Given the description of an element on the screen output the (x, y) to click on. 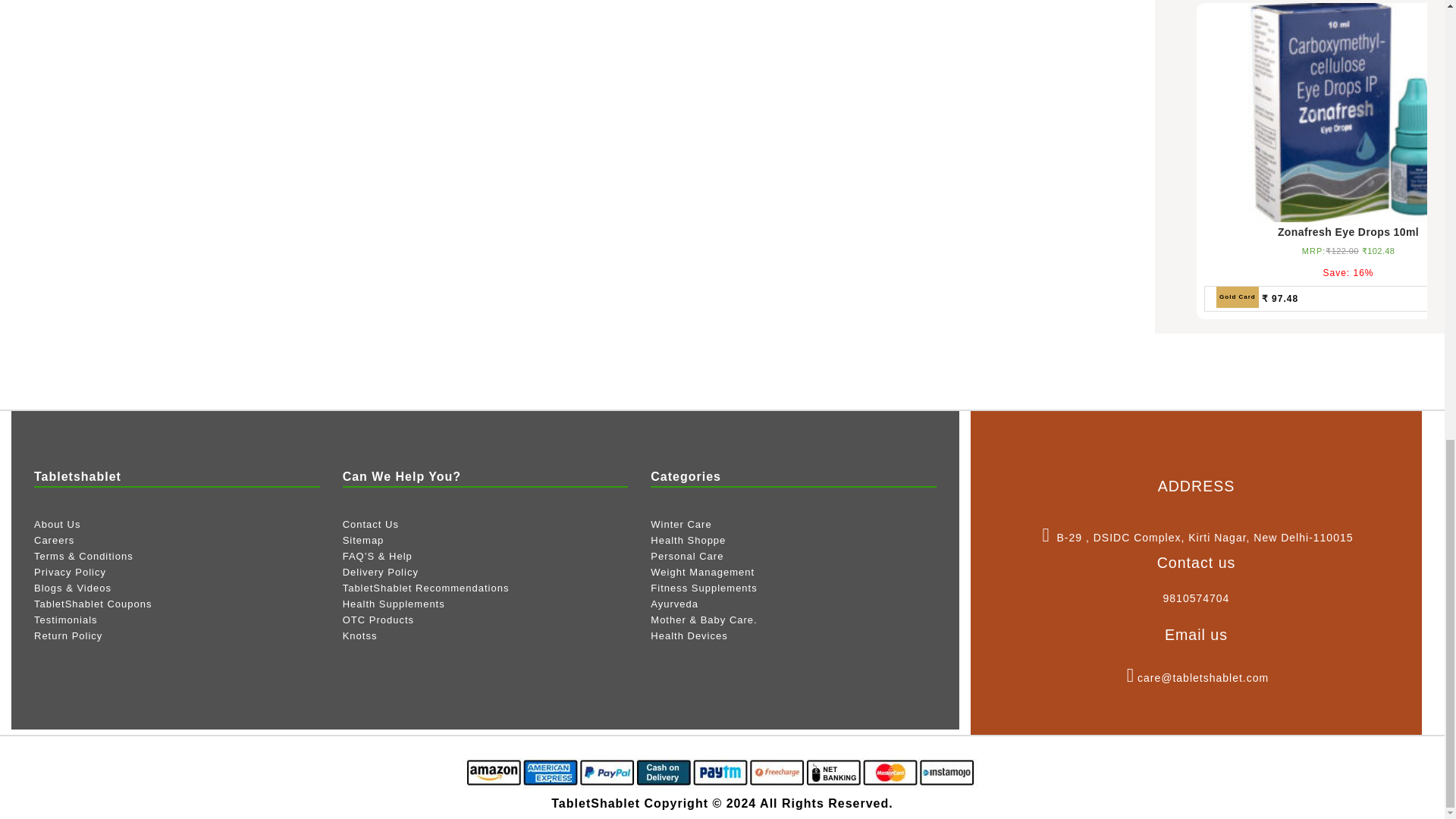
TabletShablet Coupons (92, 603)
Daily Health Care Journal By TabletShablet (72, 587)
